Given the description of an element on the screen output the (x, y) to click on. 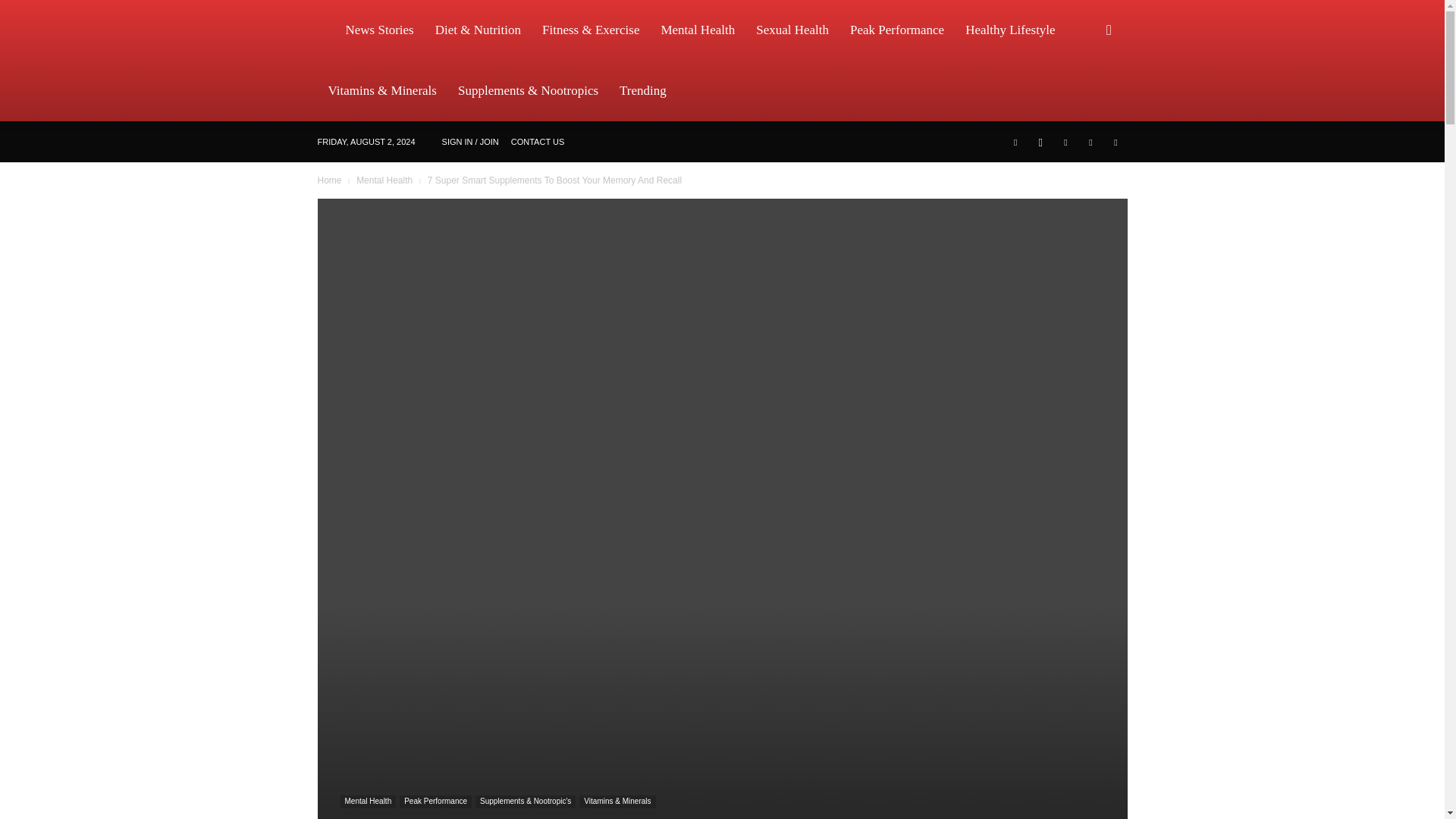
Peak Performance (897, 30)
View all posts in Mental Health (384, 180)
Mental Health (697, 30)
News Stories (379, 30)
Healthy Lifestyle (1010, 30)
Sexual Health (792, 30)
Search (1085, 102)
Trending (642, 90)
CONTACT US (537, 141)
